Given the description of an element on the screen output the (x, y) to click on. 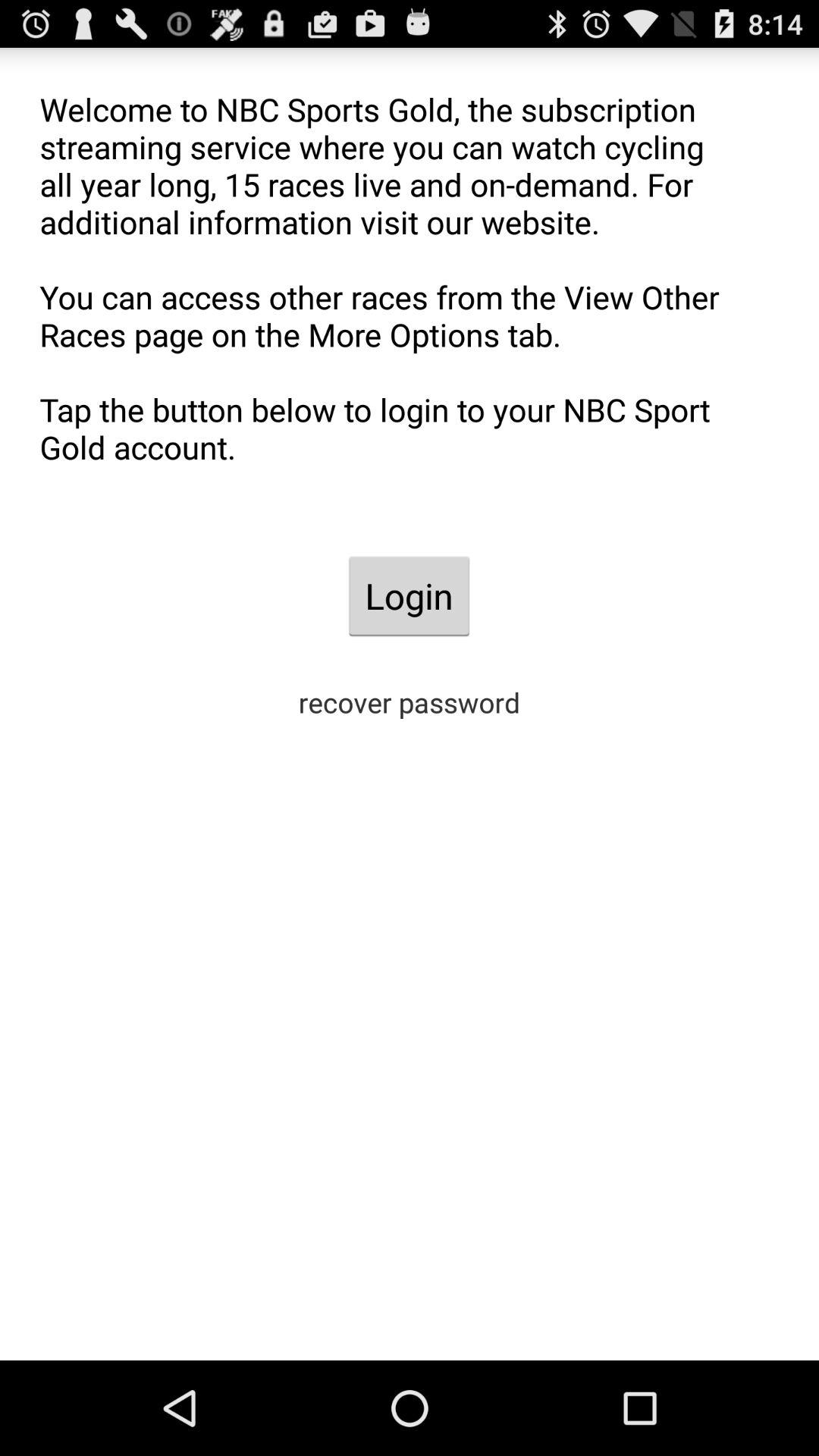
launch the app below the welcome to nbc (409, 595)
